Given the description of an element on the screen output the (x, y) to click on. 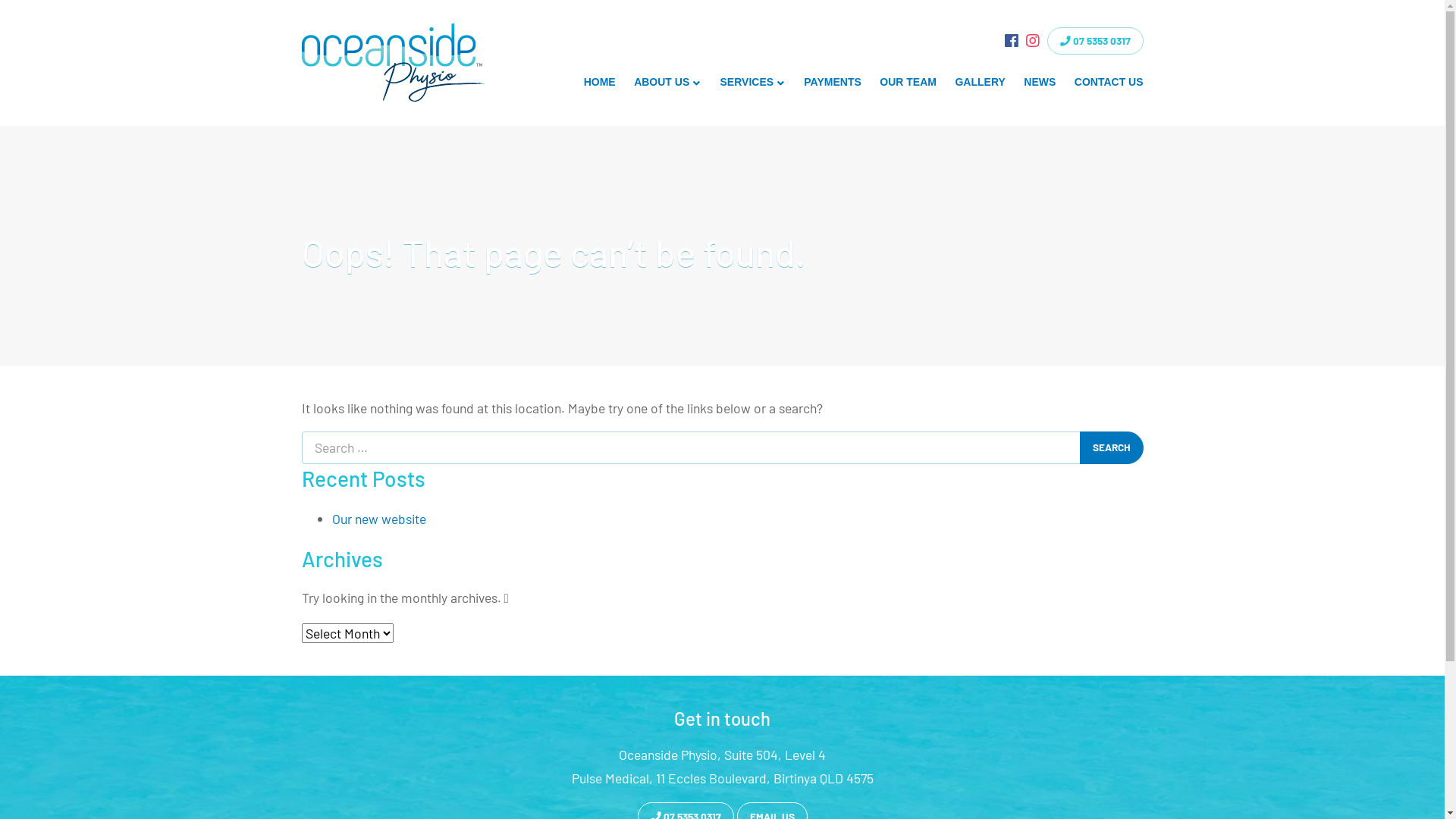
CONTACT US Element type: text (1108, 82)
Search Element type: text (1111, 447)
ABOUT US Element type: text (667, 82)
SERVICES Element type: text (752, 82)
GALLERY Element type: text (979, 82)
HOME Element type: text (599, 82)
NEWS Element type: text (1039, 82)
PAYMENTS Element type: text (832, 82)
07 5353 0317 Element type: text (1094, 40)
OUR TEAM Element type: text (907, 82)
Our new website Element type: text (379, 518)
